Given the description of an element on the screen output the (x, y) to click on. 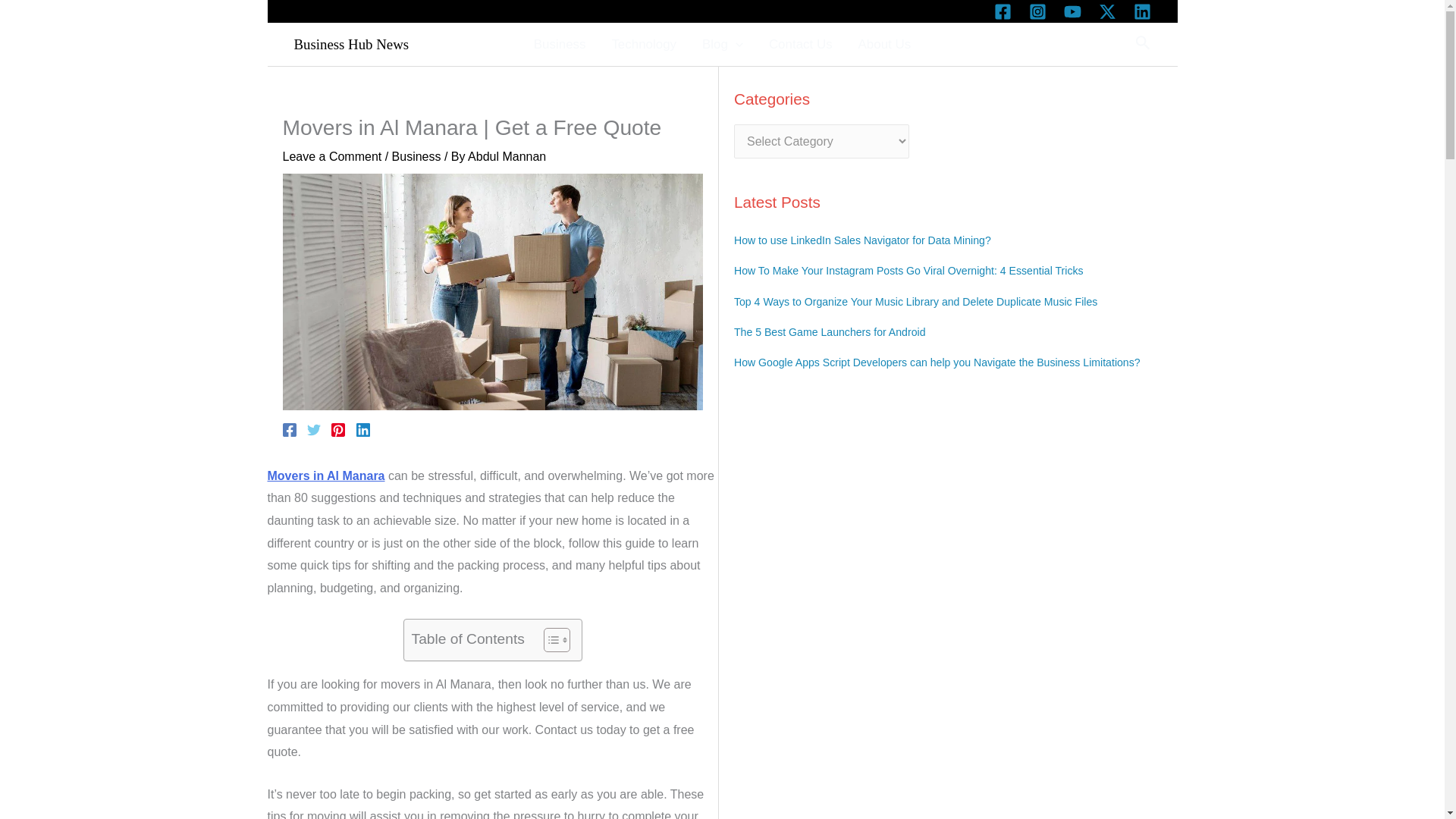
Leave a Comment (331, 155)
Business (416, 155)
Contact Us (800, 44)
View all posts by Abdul Mannan (506, 155)
Blog (721, 44)
Movers in Al Manara (325, 475)
Technology (643, 44)
Abdul Mannan (506, 155)
Business (559, 44)
About Us (884, 44)
Business Hub News (351, 44)
